Given the description of an element on the screen output the (x, y) to click on. 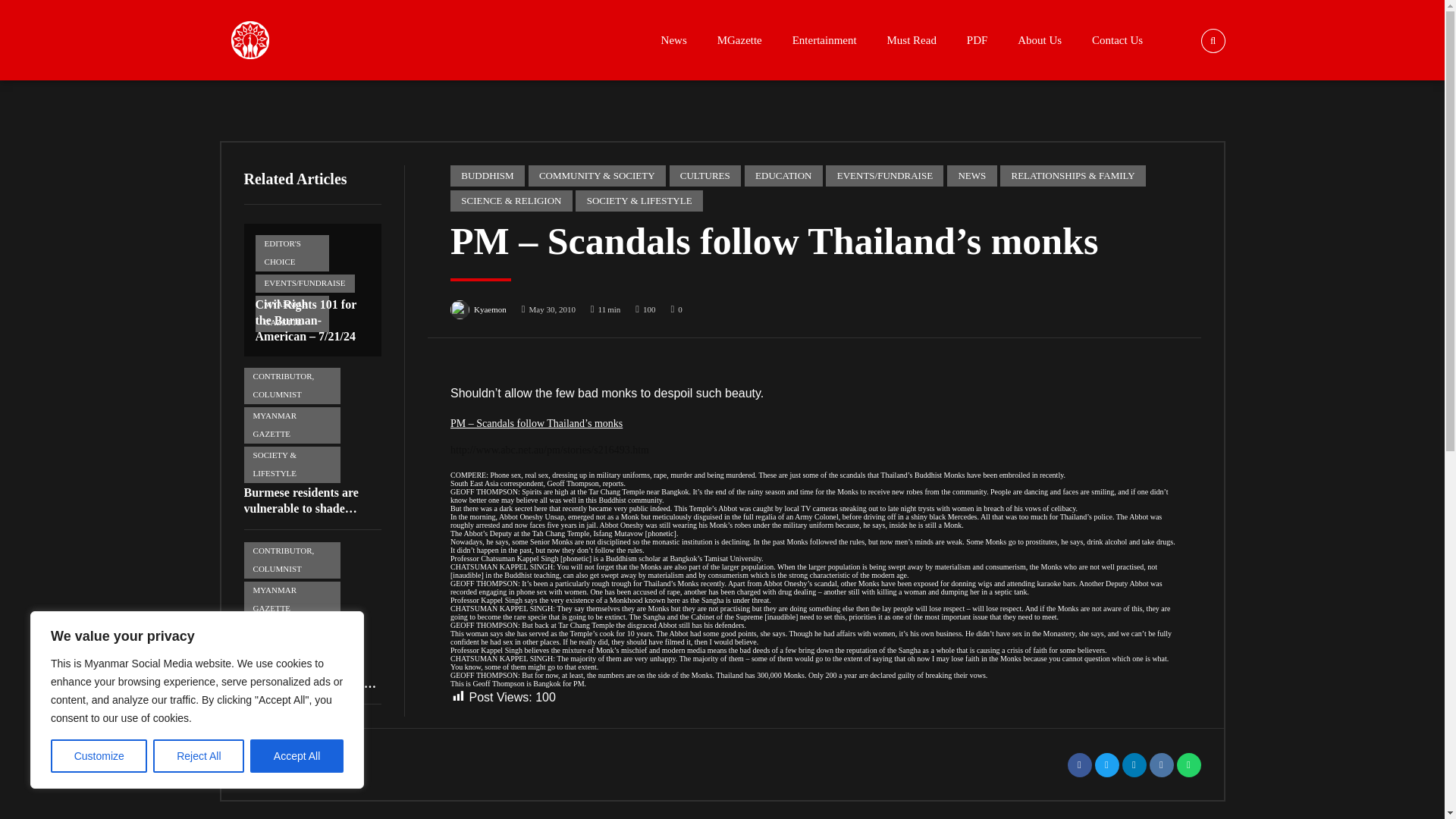
Customize (98, 756)
MGazette (739, 39)
News (673, 39)
Entertainment (824, 39)
MGazette (739, 39)
PDF Files Download (977, 39)
Accept All (296, 756)
Reject All (198, 756)
